Given the description of an element on the screen output the (x, y) to click on. 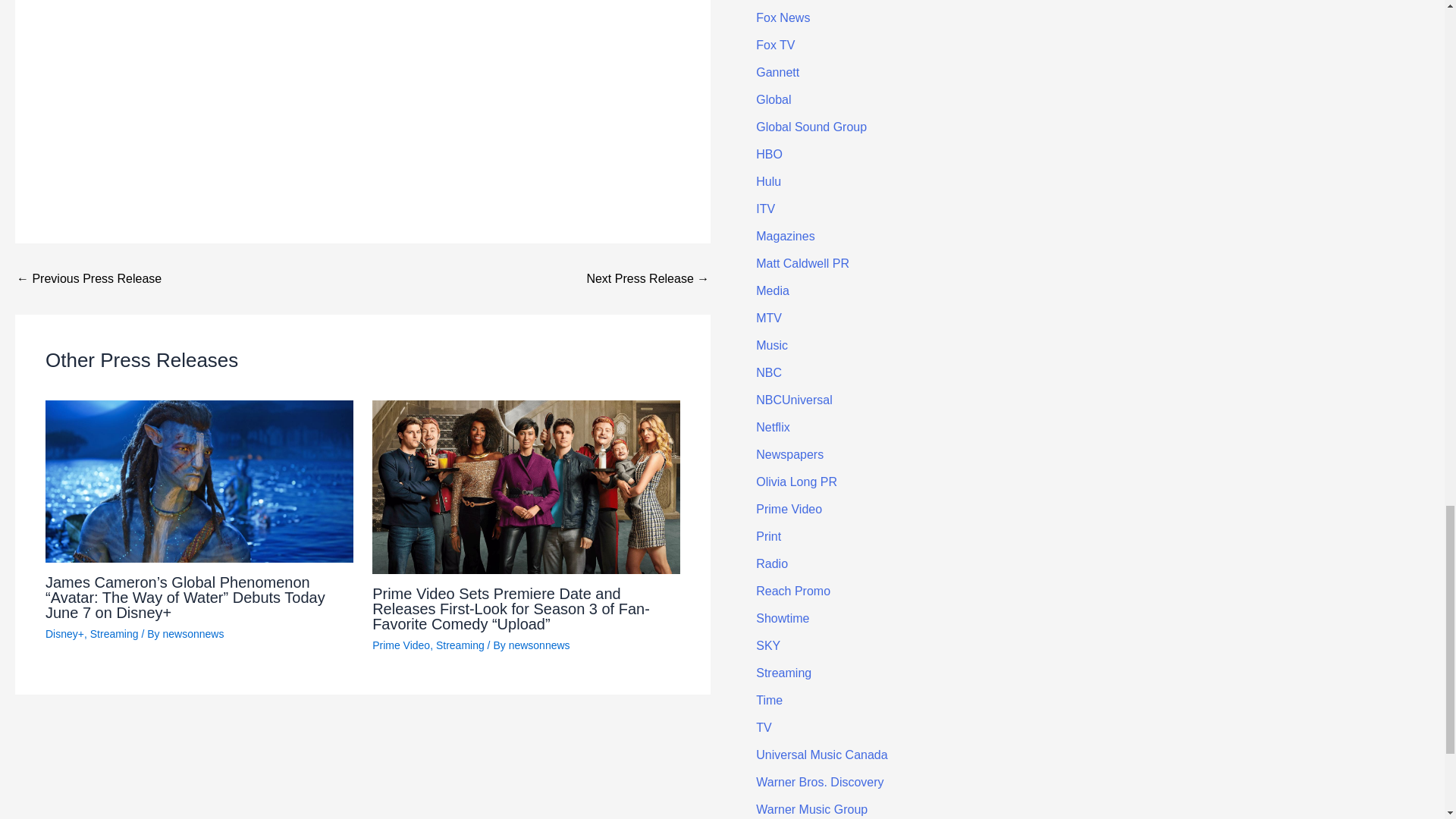
View all posts by newsonnews (539, 645)
Discovey Naked and Afraid Castaways (363, 79)
View all posts by newsonnews (192, 633)
